Given the description of an element on the screen output the (x, y) to click on. 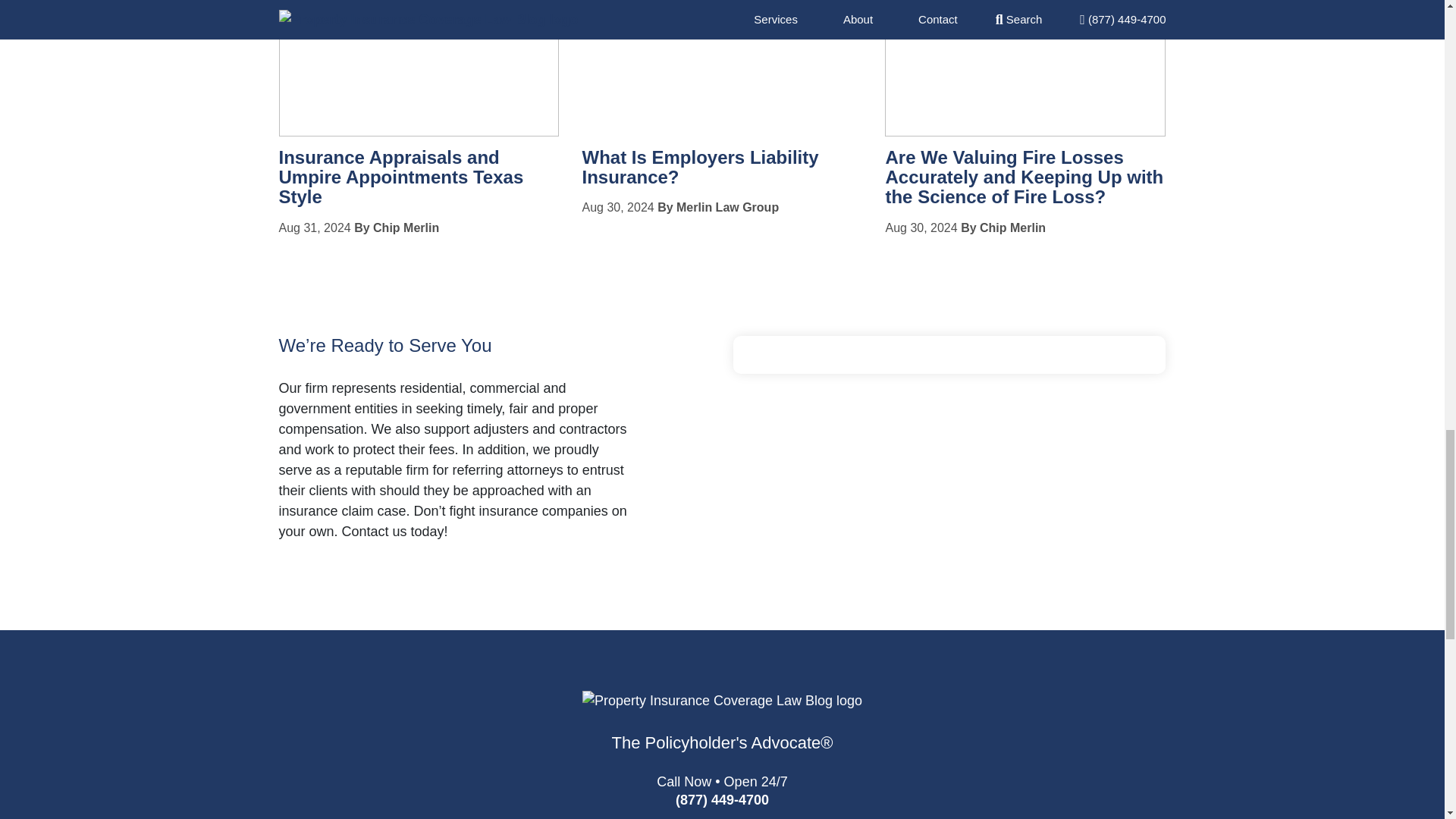
Insurance Appraisals and Umpire Appointments Texas Style (401, 177)
What Is Employers Liability Insurance? (699, 167)
By Chip Merlin (1002, 227)
By Chip Merlin (396, 227)
By Merlin Law Group (718, 206)
Property Insurance Coverage Law Blog (722, 727)
